Given the description of an element on the screen output the (x, y) to click on. 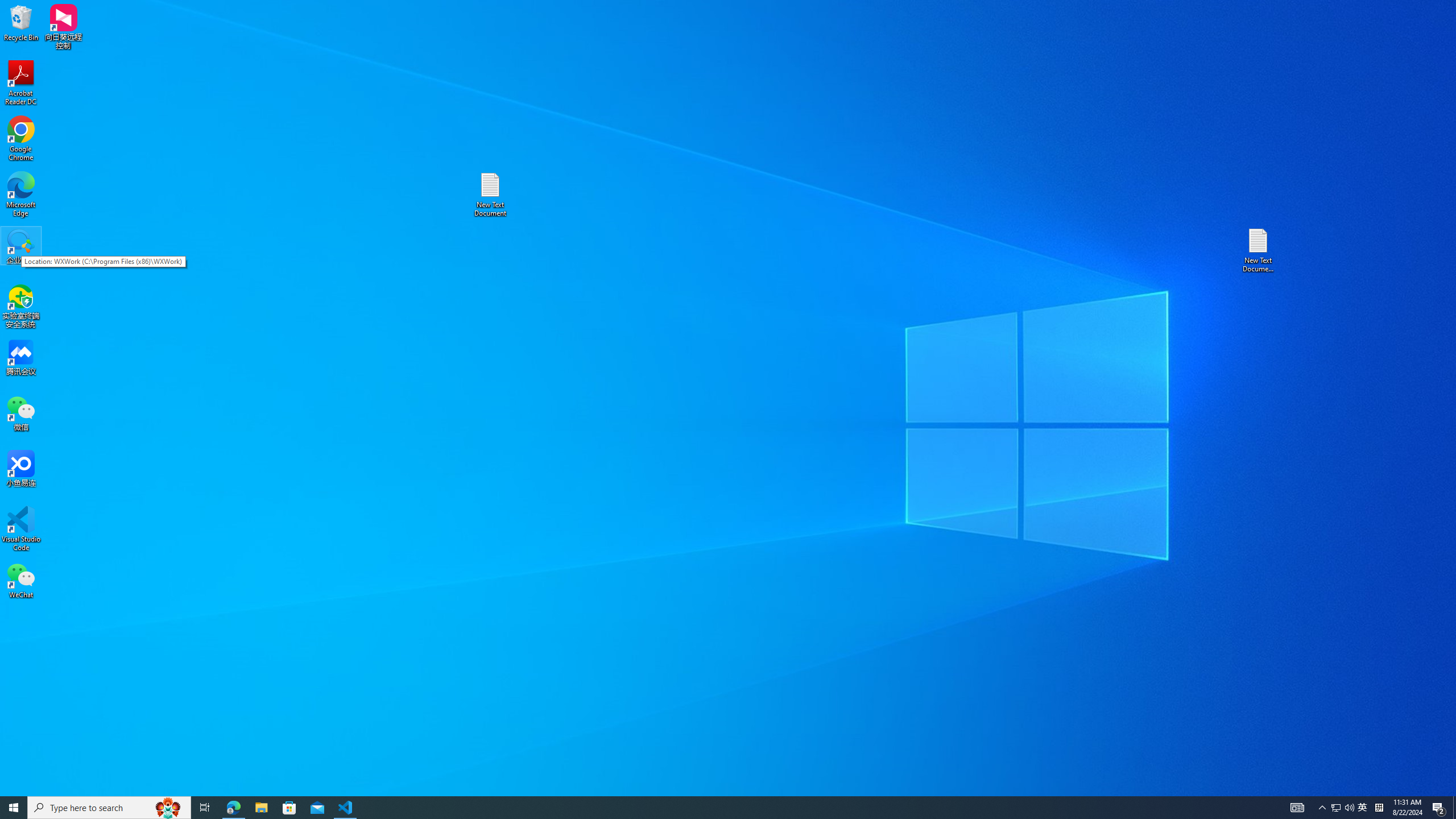
Microsoft Edge (21, 194)
Recycle Bin (21, 22)
New Text Document (489, 194)
Visual Studio Code (21, 528)
Acrobat Reader DC (1362, 807)
Running applications (21, 82)
